Given the description of an element on the screen output the (x, y) to click on. 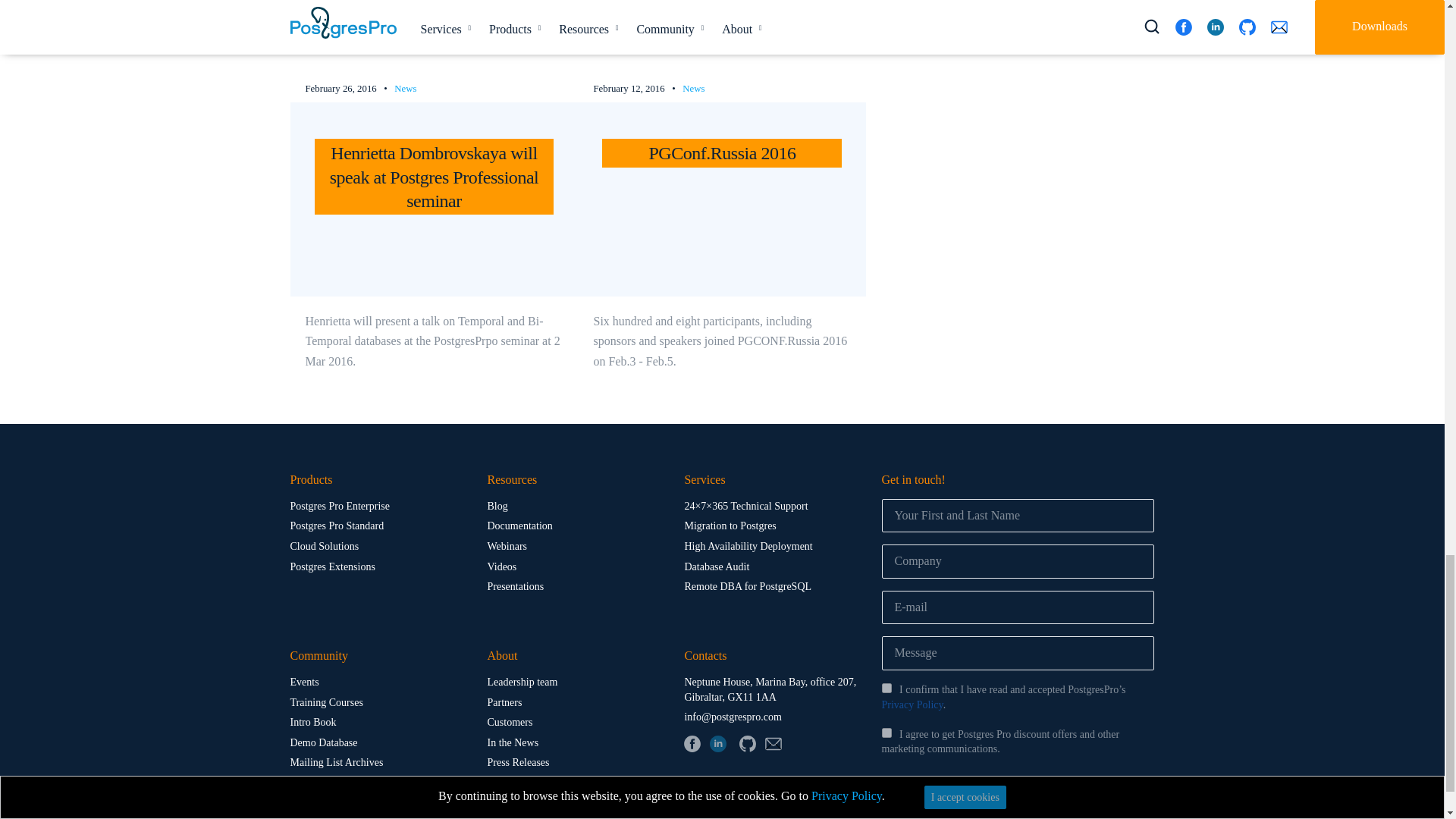
Send a message (1017, 794)
on (885, 687)
Facebook (692, 743)
on (885, 732)
